Given the description of an element on the screen output the (x, y) to click on. 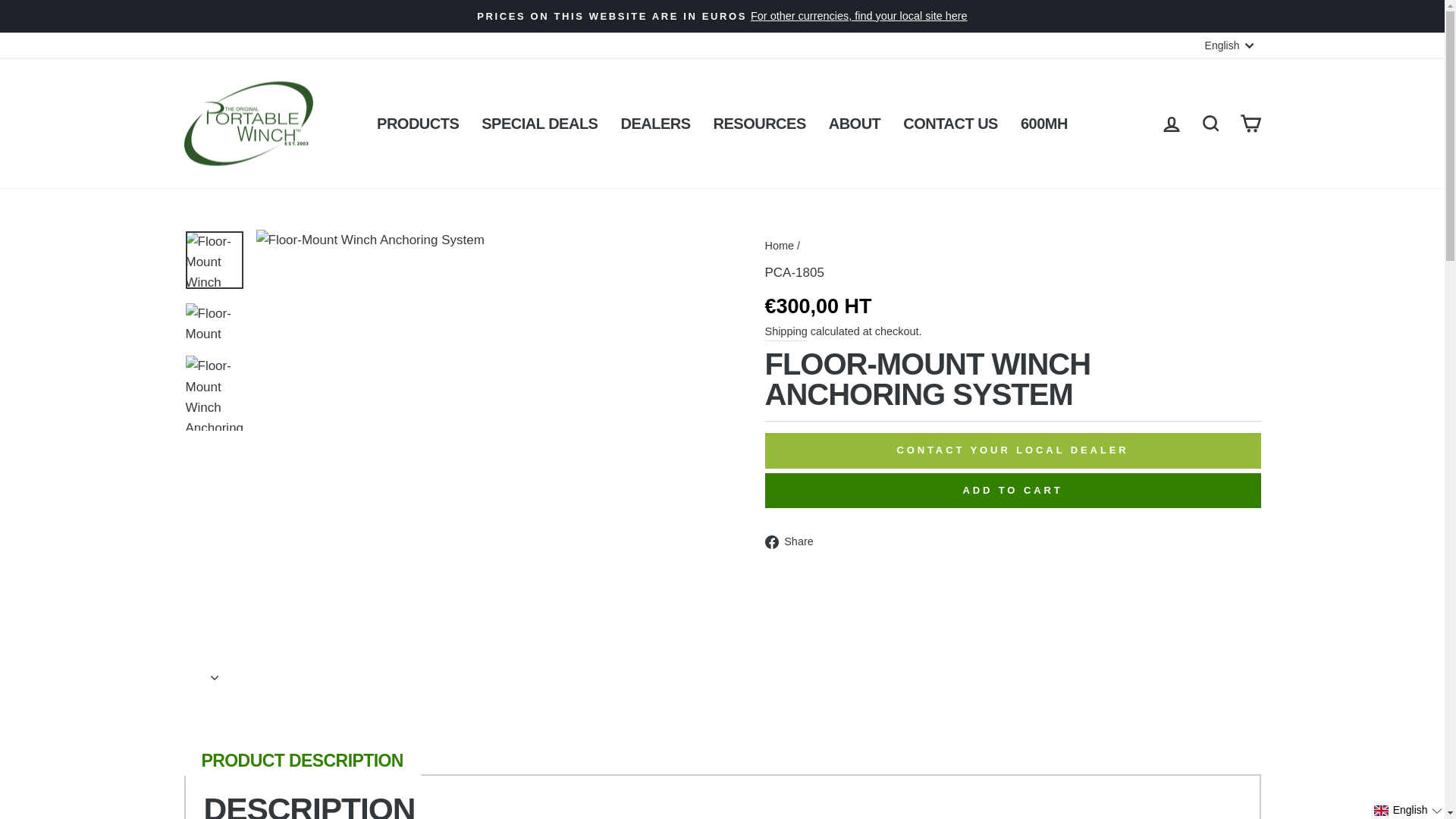
Back to the homepage (778, 245)
Share on Facebook (794, 540)
